Given the description of an element on the screen output the (x, y) to click on. 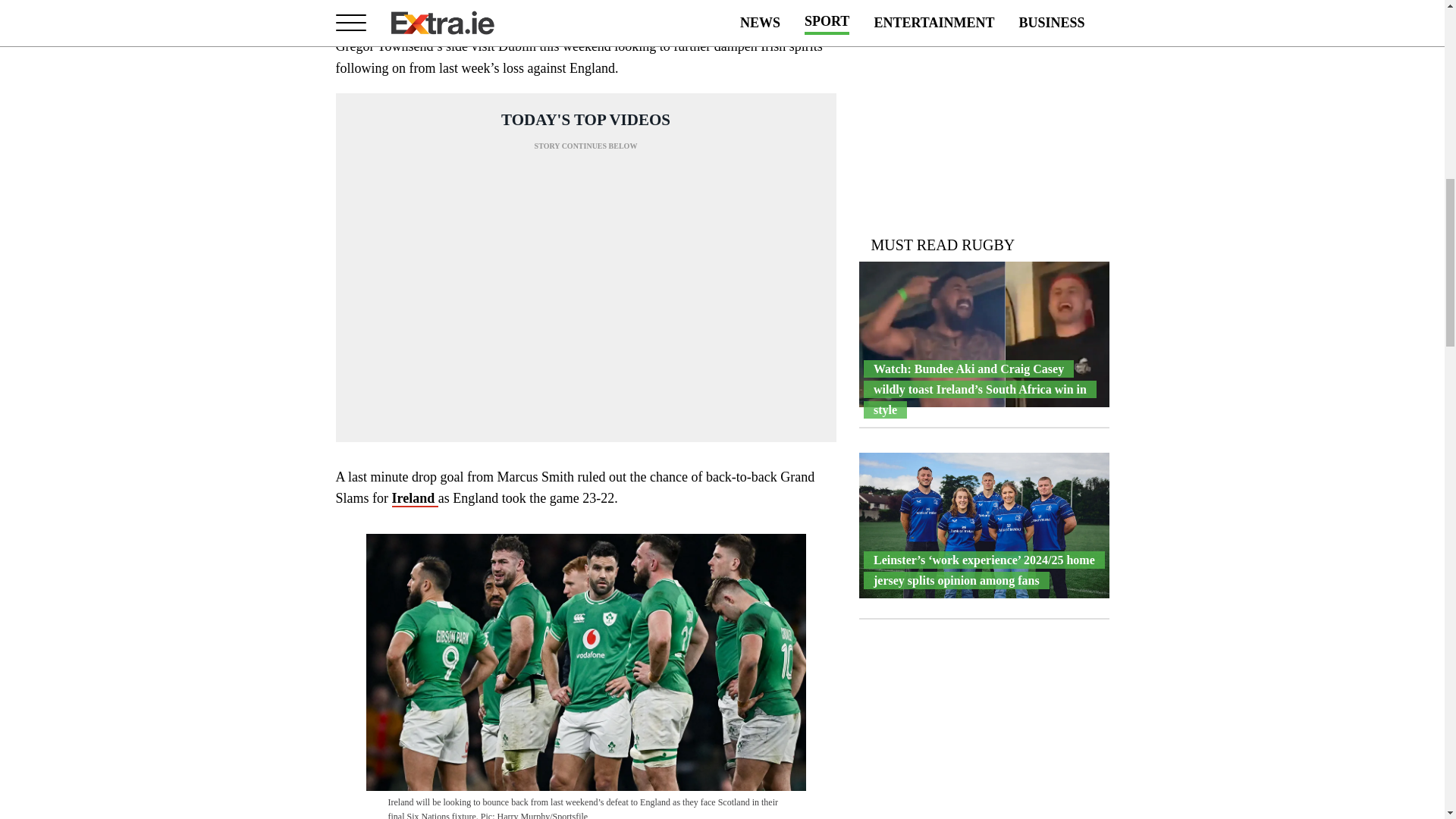
Ireland (414, 498)
